Given the description of an element on the screen output the (x, y) to click on. 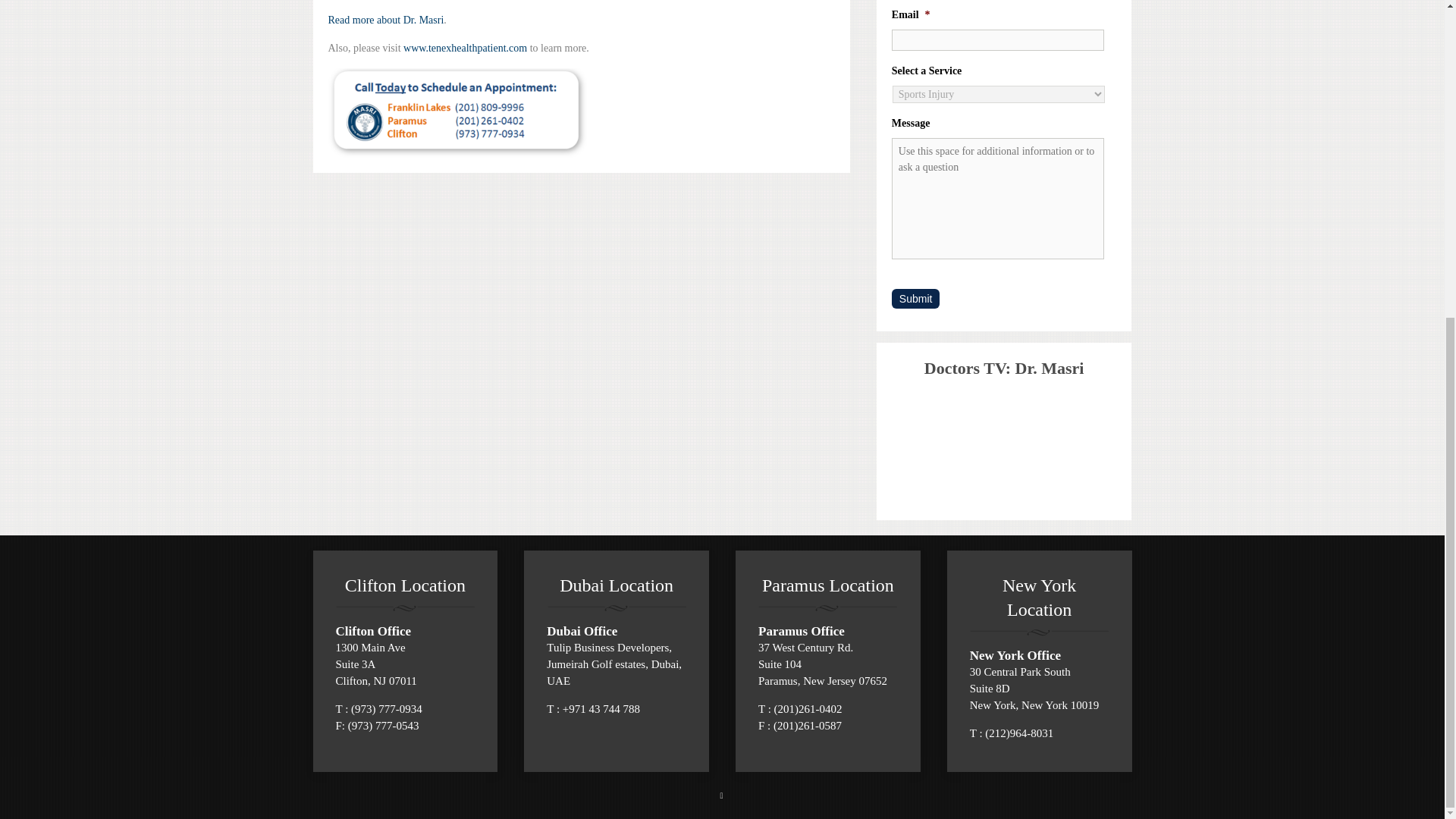
Submit (915, 298)
